Given the description of an element on the screen output the (x, y) to click on. 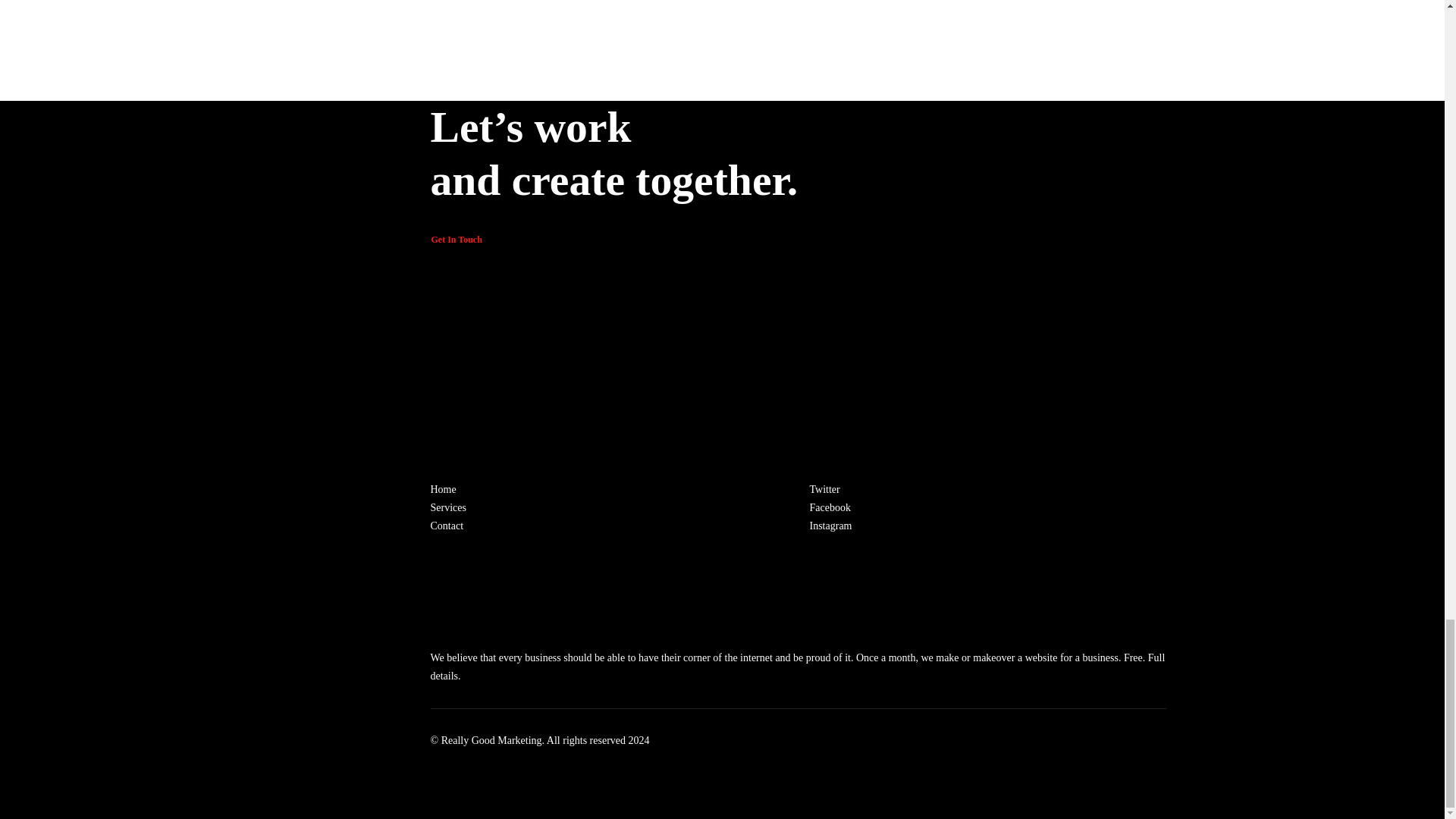
Twitter (824, 489)
Home (443, 489)
Get In Touch (456, 240)
Full details (798, 666)
Facebook (829, 507)
Services (447, 507)
Instagram (830, 525)
Contact (447, 525)
